Given the description of an element on the screen output the (x, y) to click on. 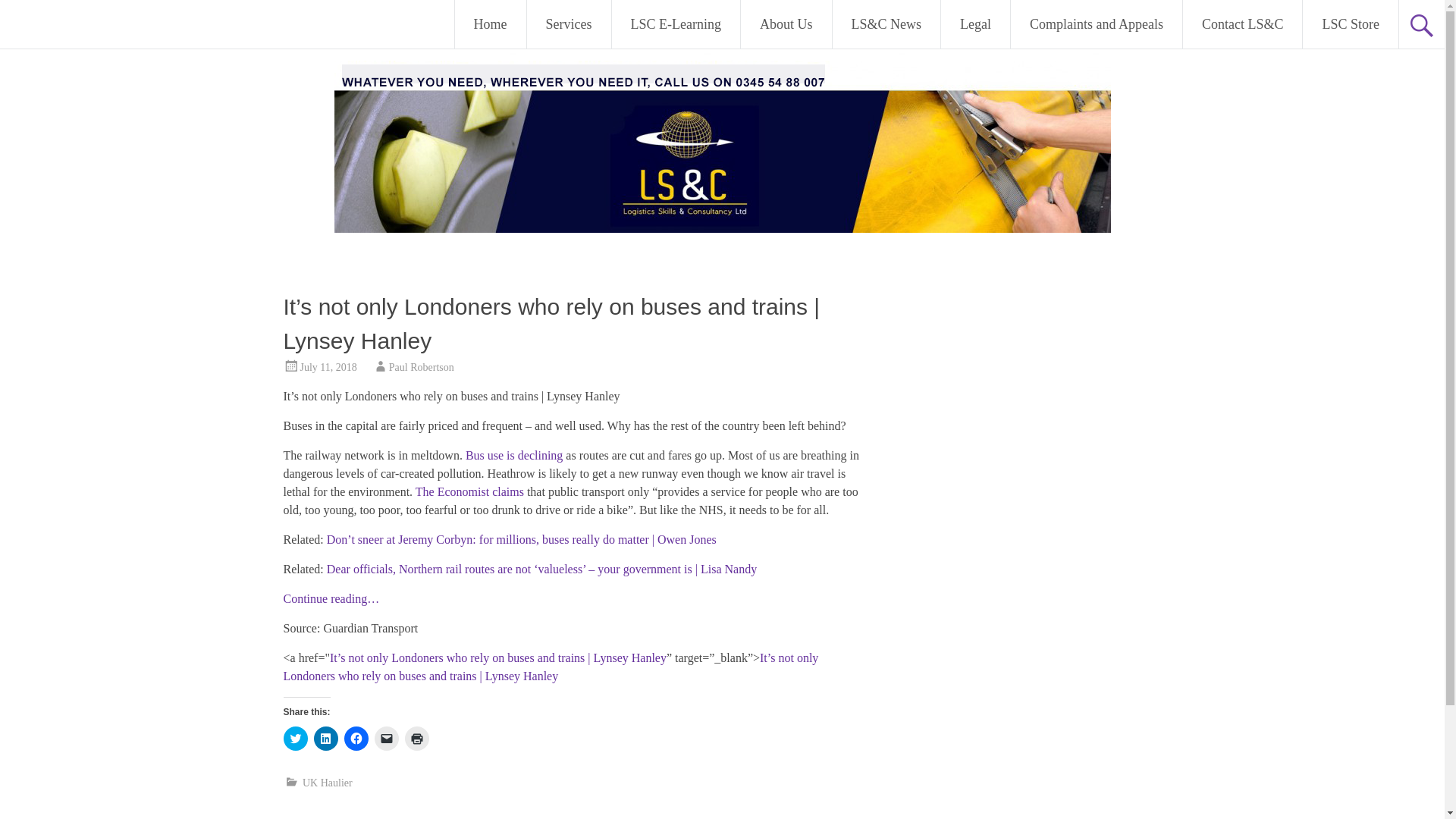
Click to print (416, 738)
Logistics Skills Consultancy (185, 23)
Logistics Skills Consultancy (185, 23)
Click to email a link to a friend (386, 738)
Click to share on Twitter (295, 738)
Services (569, 24)
Click to share on Facebook (355, 738)
Click to share on LinkedIn (325, 738)
Home (489, 24)
